Given the description of an element on the screen output the (x, y) to click on. 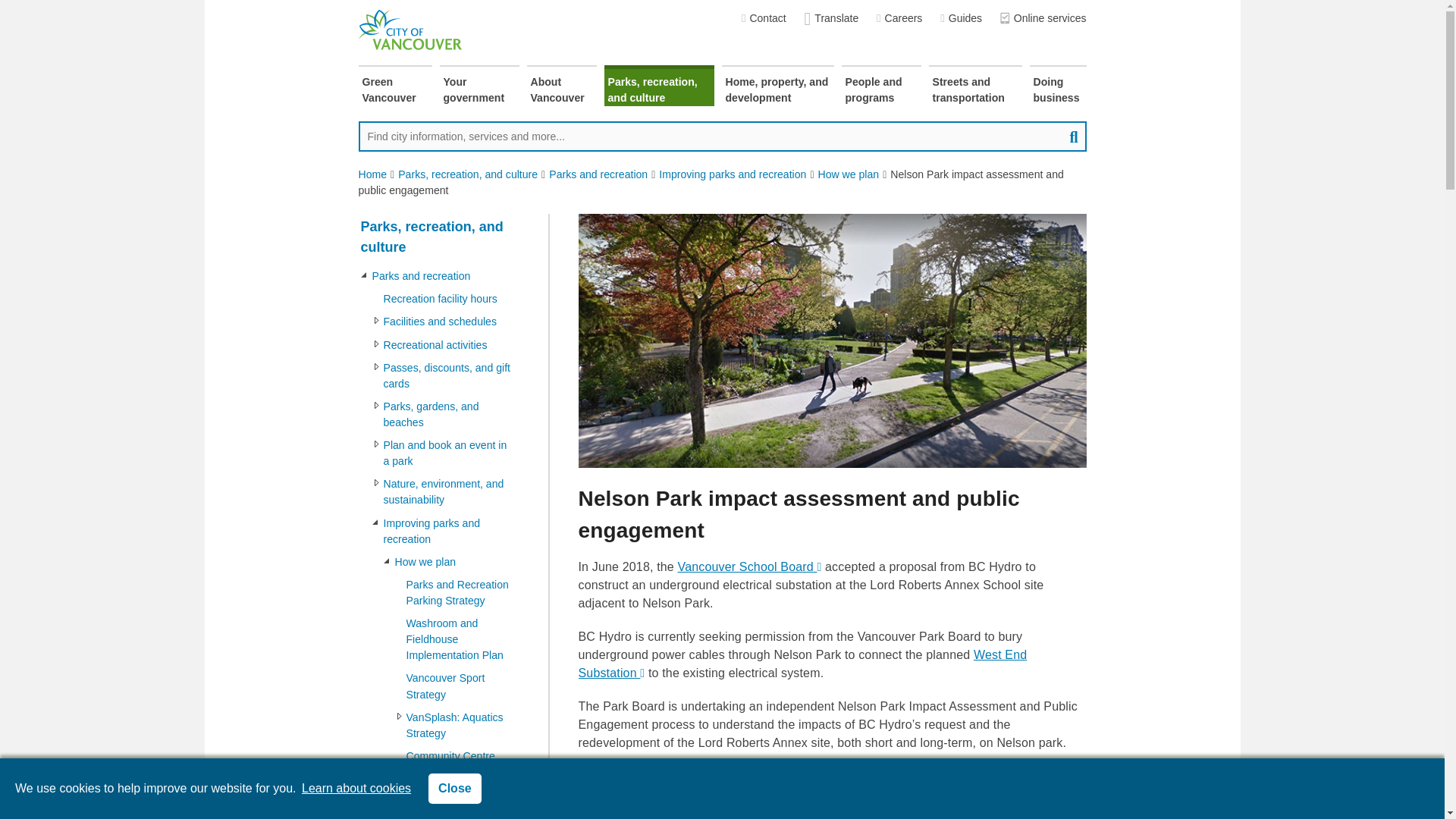
Your government (479, 85)
Careers (898, 18)
Translate (832, 18)
Parks, recreation, and culture (658, 85)
A man walking his dog in front of Nelson Park (832, 340)
Home, property, and development (778, 85)
Close (454, 788)
Guides (960, 18)
Home (372, 174)
Streets and transportation (975, 85)
Contact (763, 18)
Doing business (1057, 85)
About Vancouver (560, 85)
Online services (1043, 18)
Green Vancouver (394, 85)
